Given the description of an element on the screen output the (x, y) to click on. 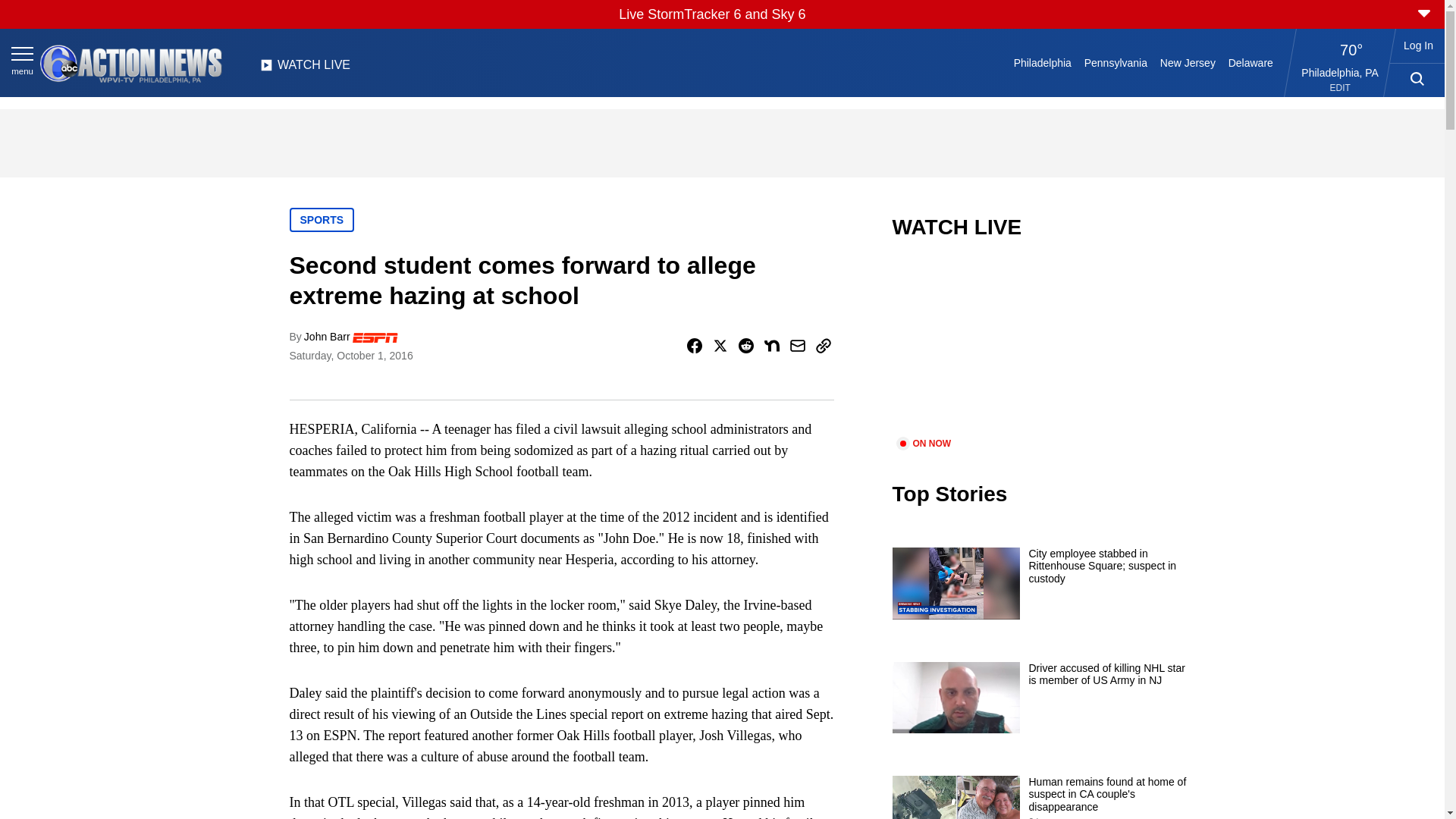
WATCH LIVE (305, 69)
EDIT (1340, 87)
Philadelphia (1042, 62)
Philadelphia, PA (1339, 72)
Pennsylvania (1115, 62)
video.title (1043, 347)
Delaware (1250, 62)
New Jersey (1187, 62)
